Given the description of an element on the screen output the (x, y) to click on. 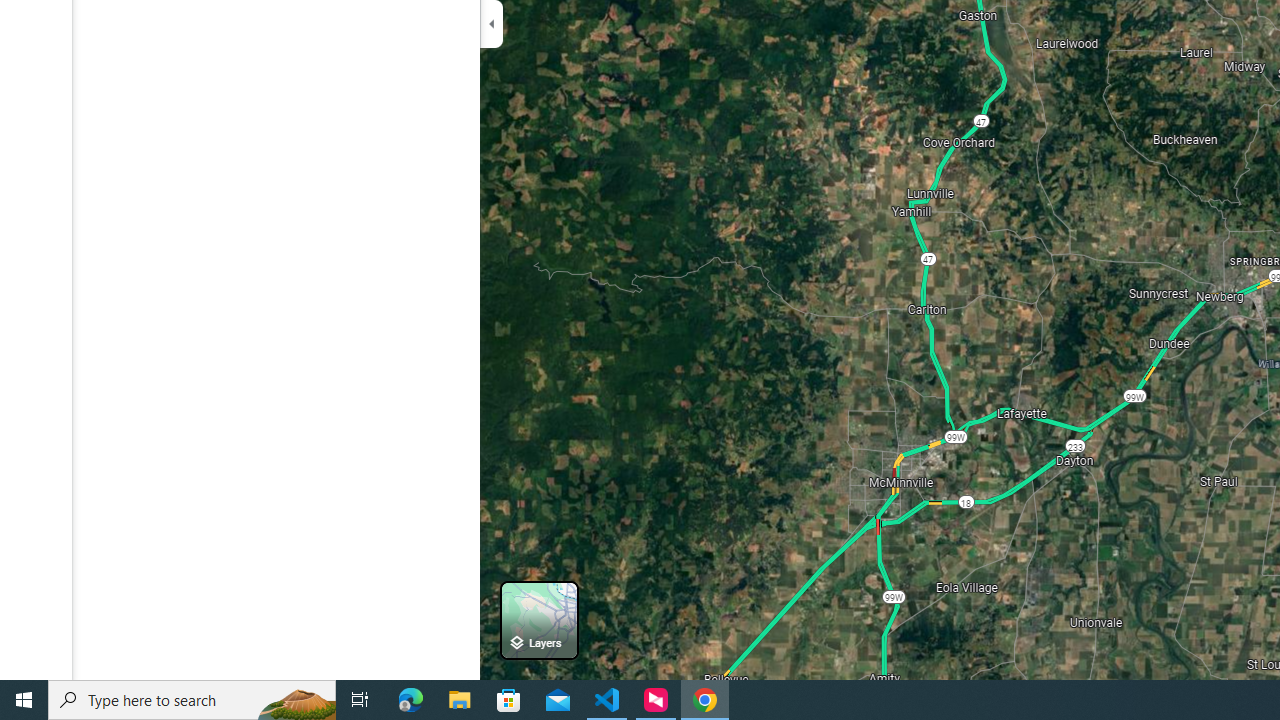
Layers (539, 620)
